Given the description of an element on the screen output the (x, y) to click on. 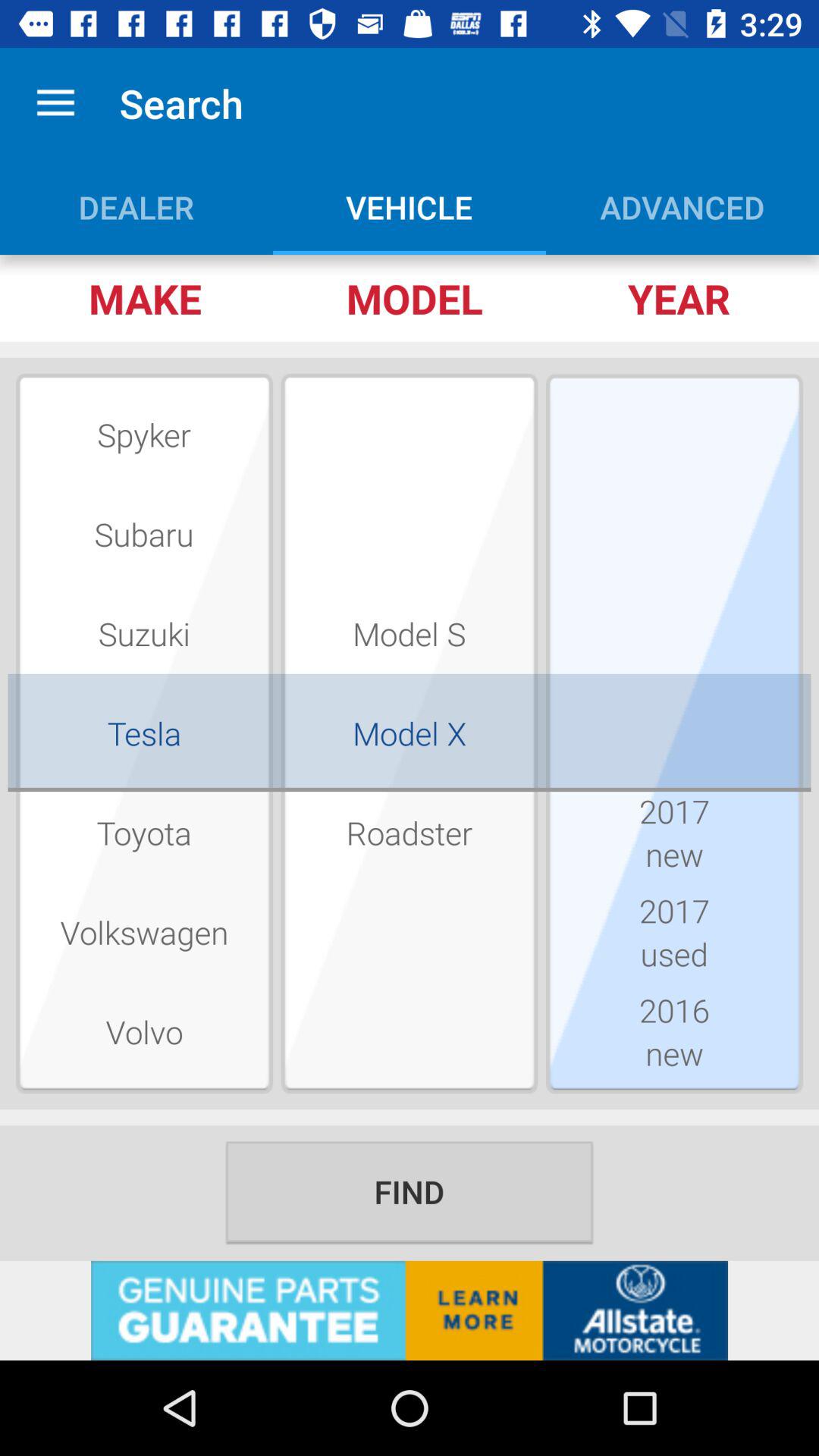
advertisement (409, 1310)
